Given the description of an element on the screen output the (x, y) to click on. 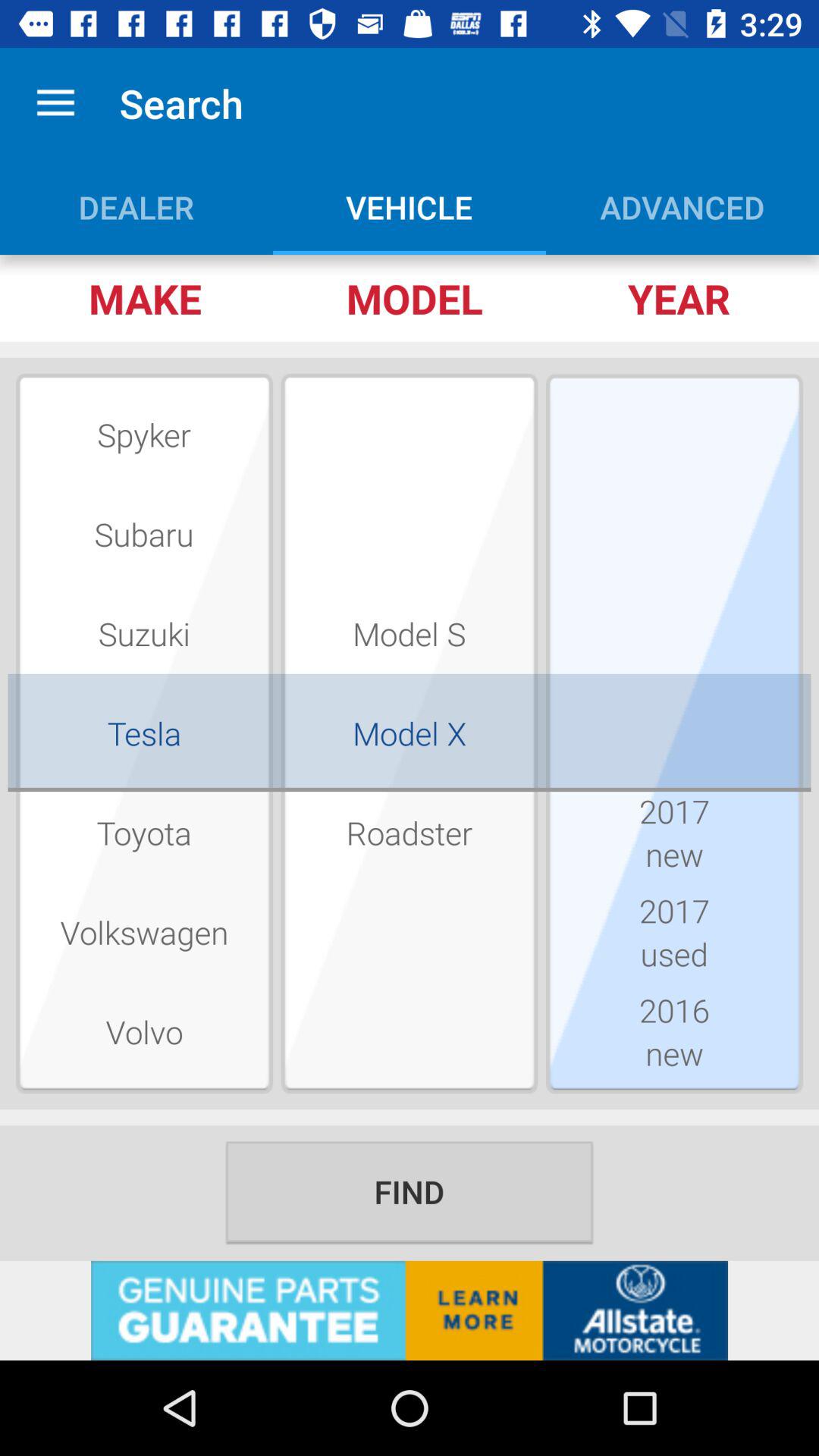
advertisement (409, 1310)
